Given the description of an element on the screen output the (x, y) to click on. 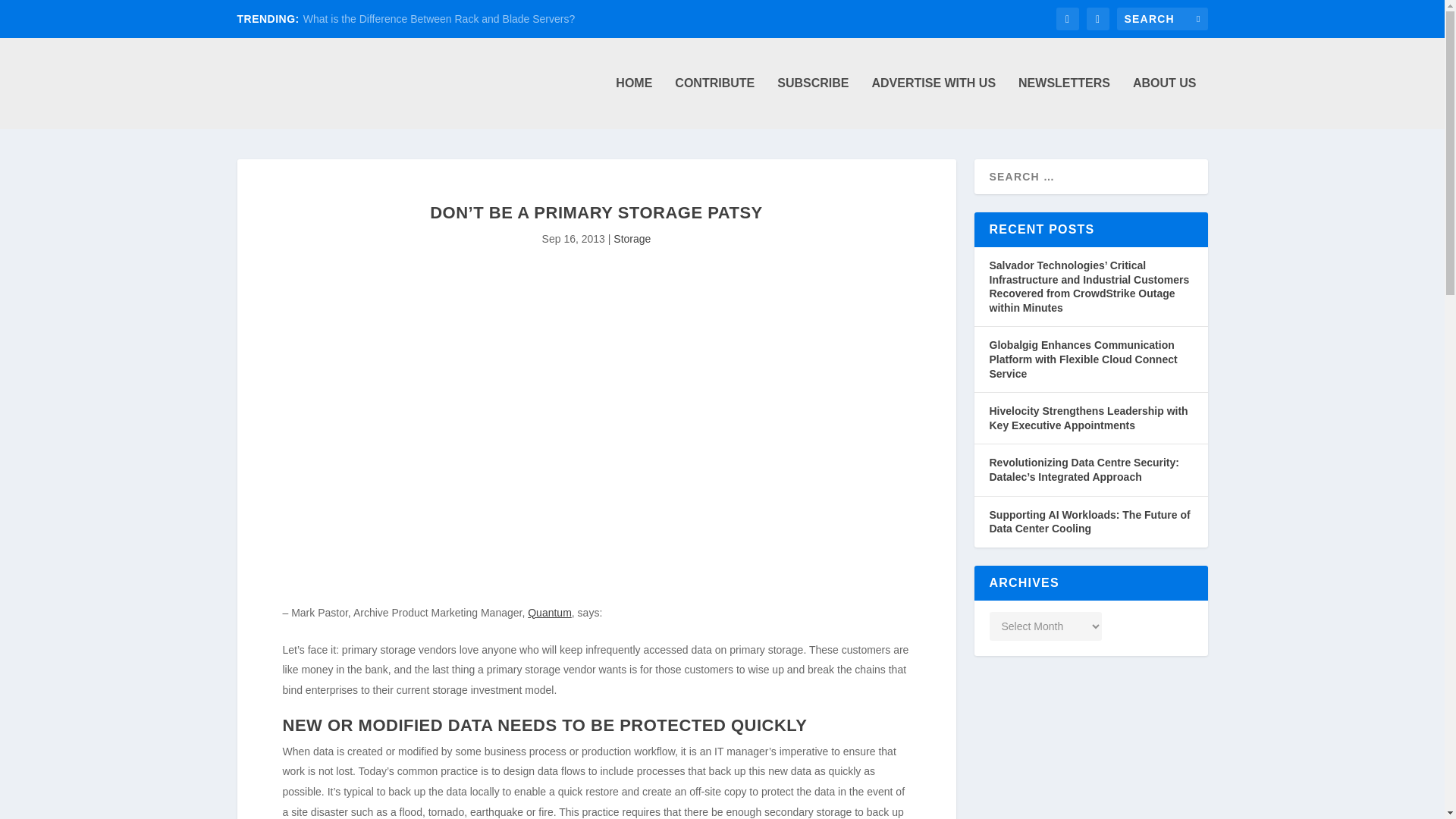
Search (31, 13)
ABOUT US (1164, 102)
What is the Difference Between Rack and Blade Servers? (438, 19)
SUBSCRIBE (812, 102)
Quantum (549, 612)
CONTRIBUTE (714, 102)
ADVERTISE WITH US (932, 102)
Search for: (1161, 18)
Storage (631, 238)
NEWSLETTERS (1063, 102)
